Given the description of an element on the screen output the (x, y) to click on. 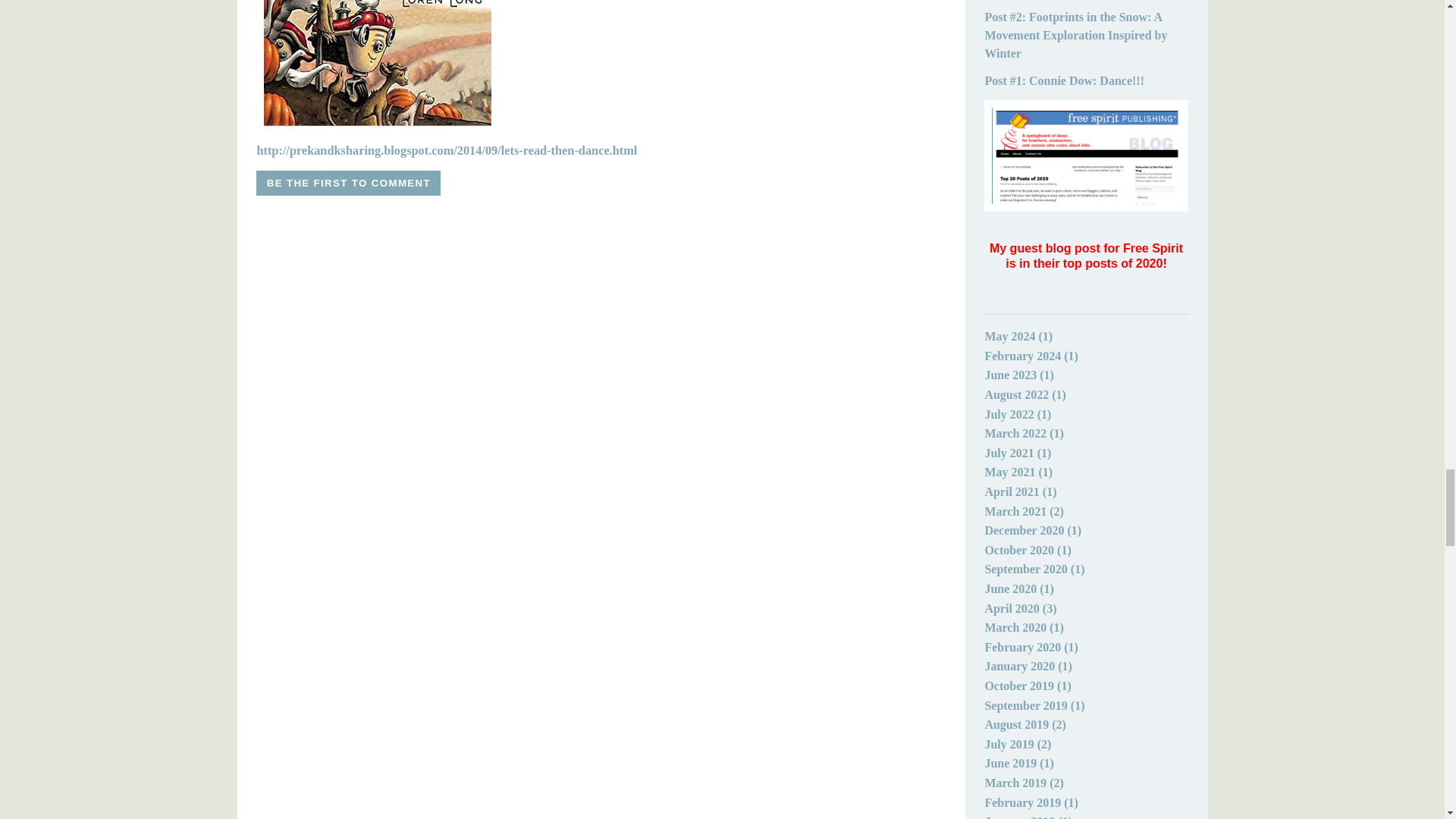
BE THE FIRST TO COMMENT (348, 182)
Let's Read, Then Dance! (446, 150)
